Given the description of an element on the screen output the (x, y) to click on. 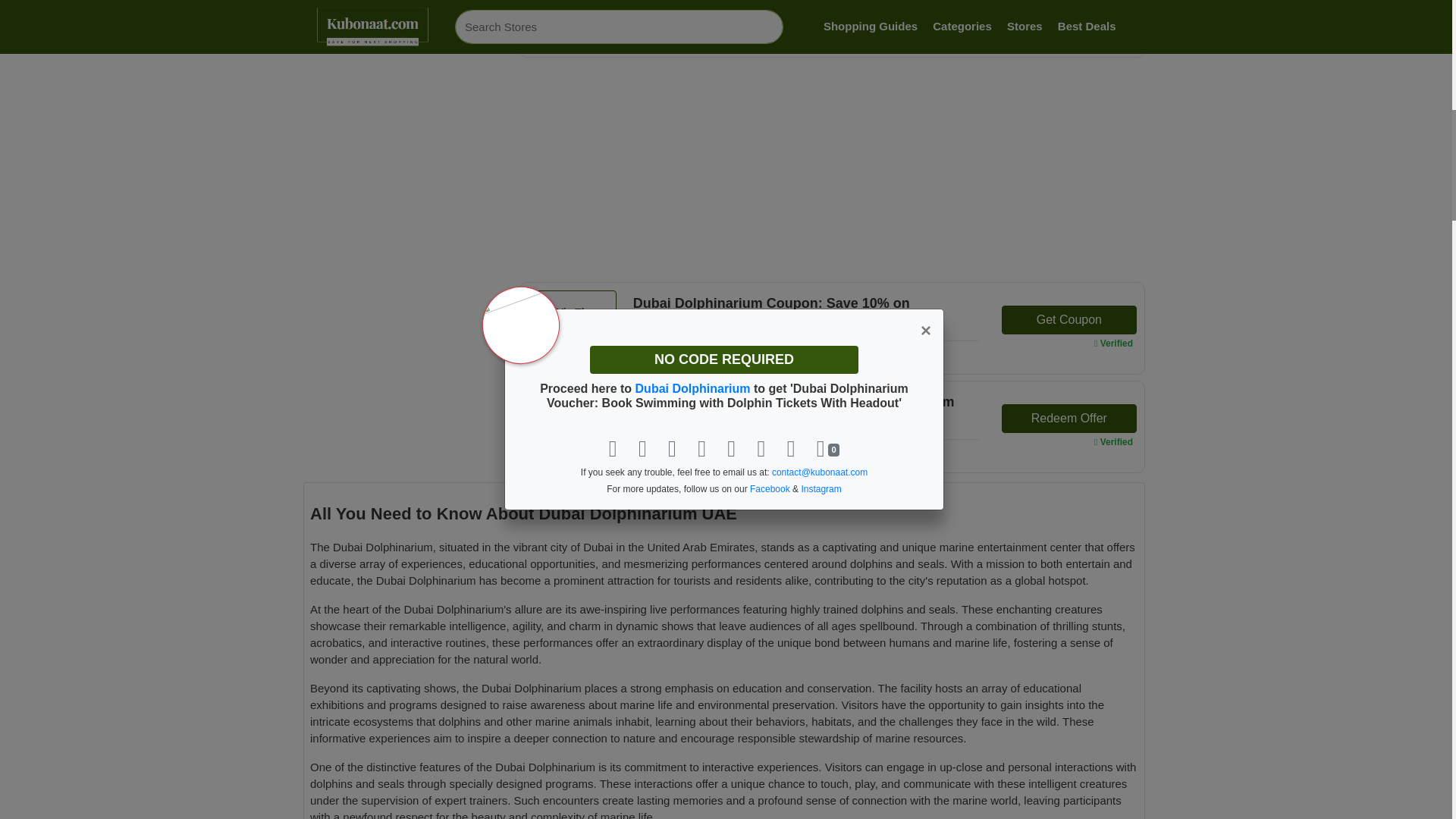
View details (663, 351)
View details (663, 34)
Redeem Offer (1069, 8)
